Given the description of an element on the screen output the (x, y) to click on. 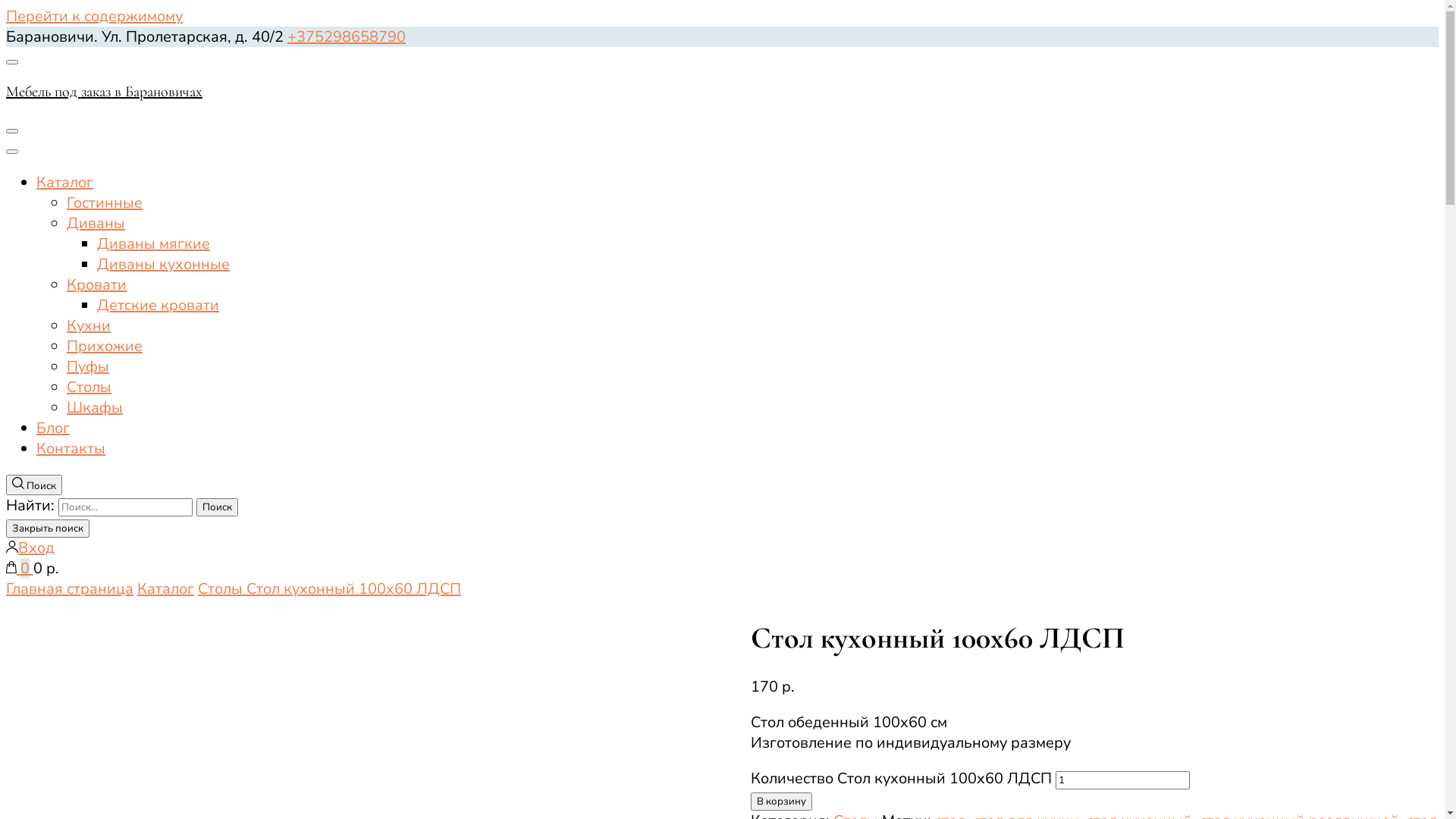
+375298658790 Element type: text (346, 36)
0 Element type: text (19, 568)
